Given the description of an element on the screen output the (x, y) to click on. 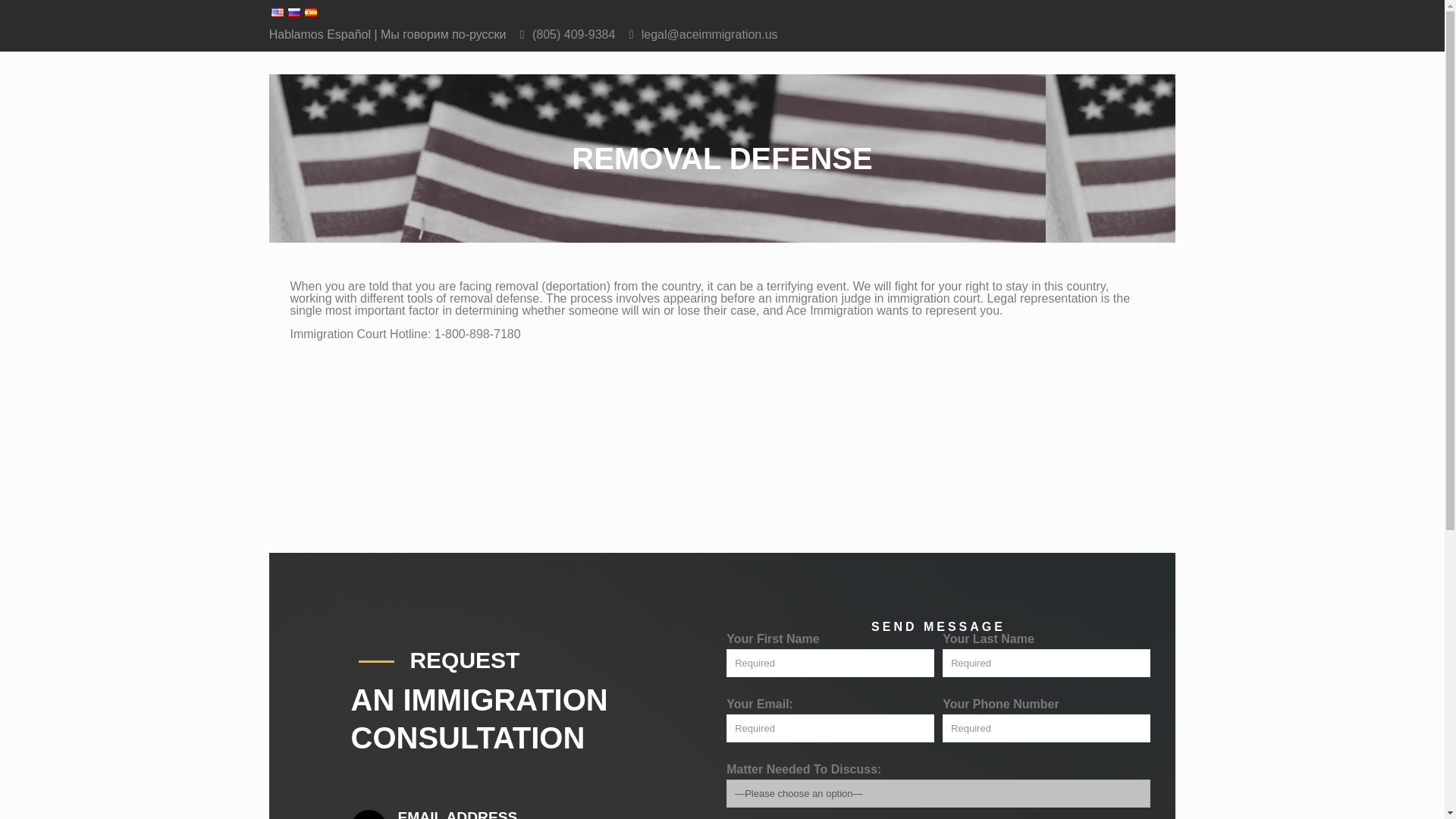
English (277, 12)
